Given the description of an element on the screen output the (x, y) to click on. 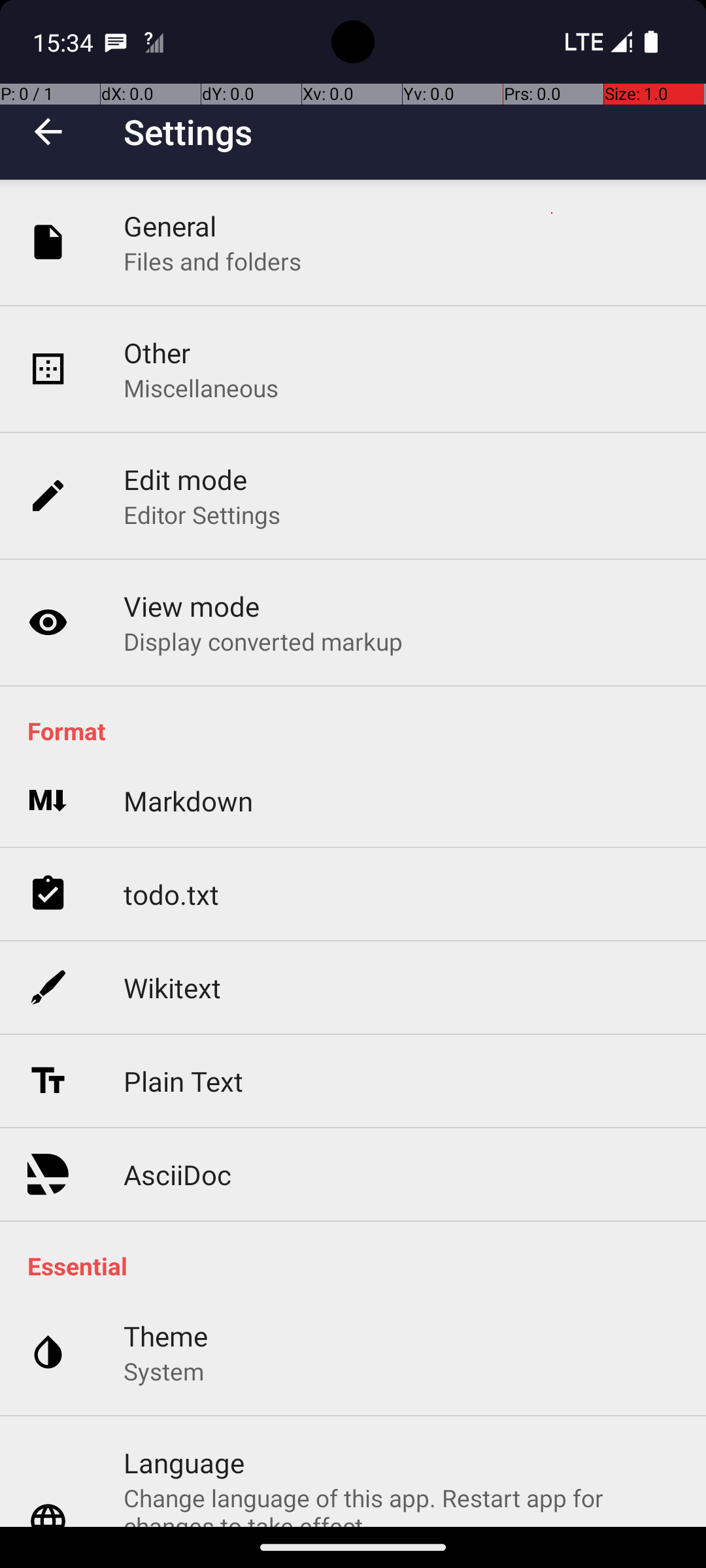
Essential Element type: android.widget.TextView (359, 1265)
Files and folders Element type: android.widget.TextView (212, 260)
Miscellaneous Element type: android.widget.TextView (200, 387)
Editor Settings Element type: android.widget.TextView (202, 514)
Display converted markup Element type: android.widget.TextView (263, 640)
Change language of this app. Restart app for changes to take effect

English (English, United States) Element type: android.widget.TextView (400, 1503)
